Given the description of an element on the screen output the (x, y) to click on. 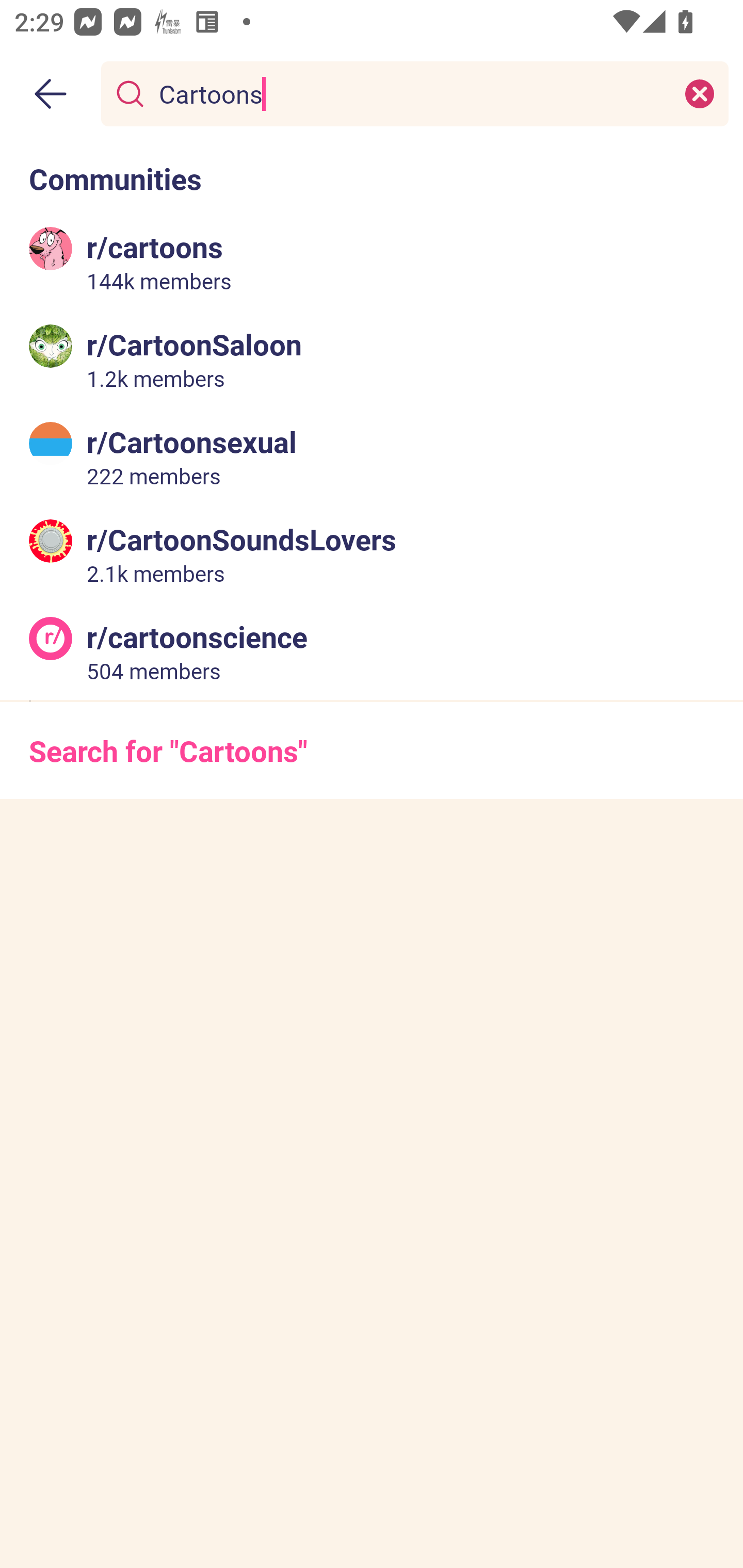
Back (50, 93)
Cartoons (410, 93)
Clear search (699, 93)
r/cartoons 144k members 144 thousand members (371, 261)
r/CartoonSaloon 1.2k members 1.2 thousand members (371, 358)
r/Cartoonsexual 222 members 222 members (371, 455)
r/cartoonscience 504 members 504 members (371, 650)
Search for "Cartoons" (371, 750)
